Given the description of an element on the screen output the (x, y) to click on. 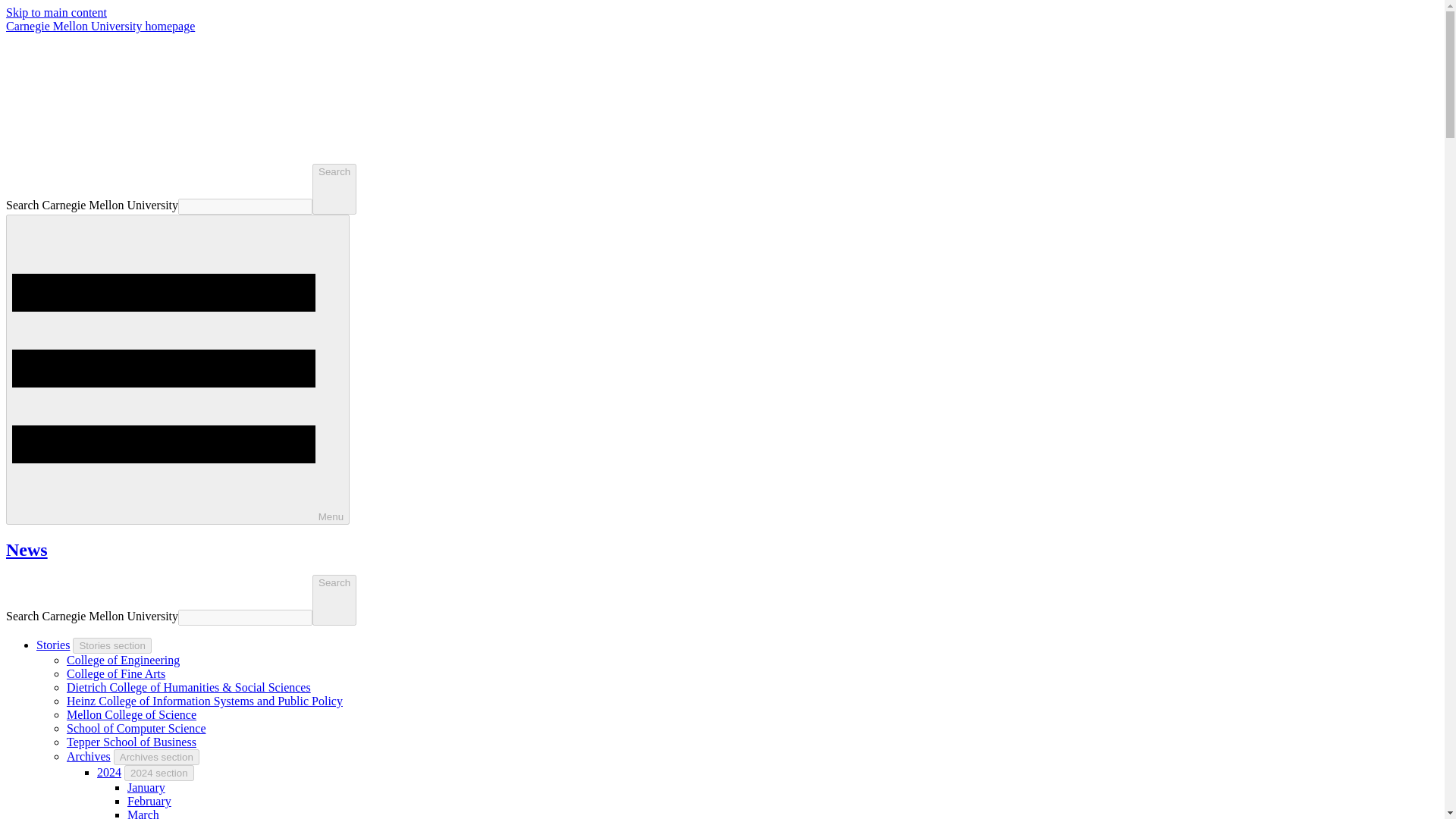
Mellon College of Science (131, 714)
February (149, 800)
2024 (108, 771)
2024 section (158, 772)
Skip to main content (55, 11)
College of Fine Arts (115, 673)
News (26, 549)
Archives section (156, 756)
Stories (52, 644)
January (146, 787)
Archives (88, 756)
Stories section (111, 645)
College of Engineering (122, 659)
March (143, 813)
Tepper School of Business (131, 741)
